Given the description of an element on the screen output the (x, y) to click on. 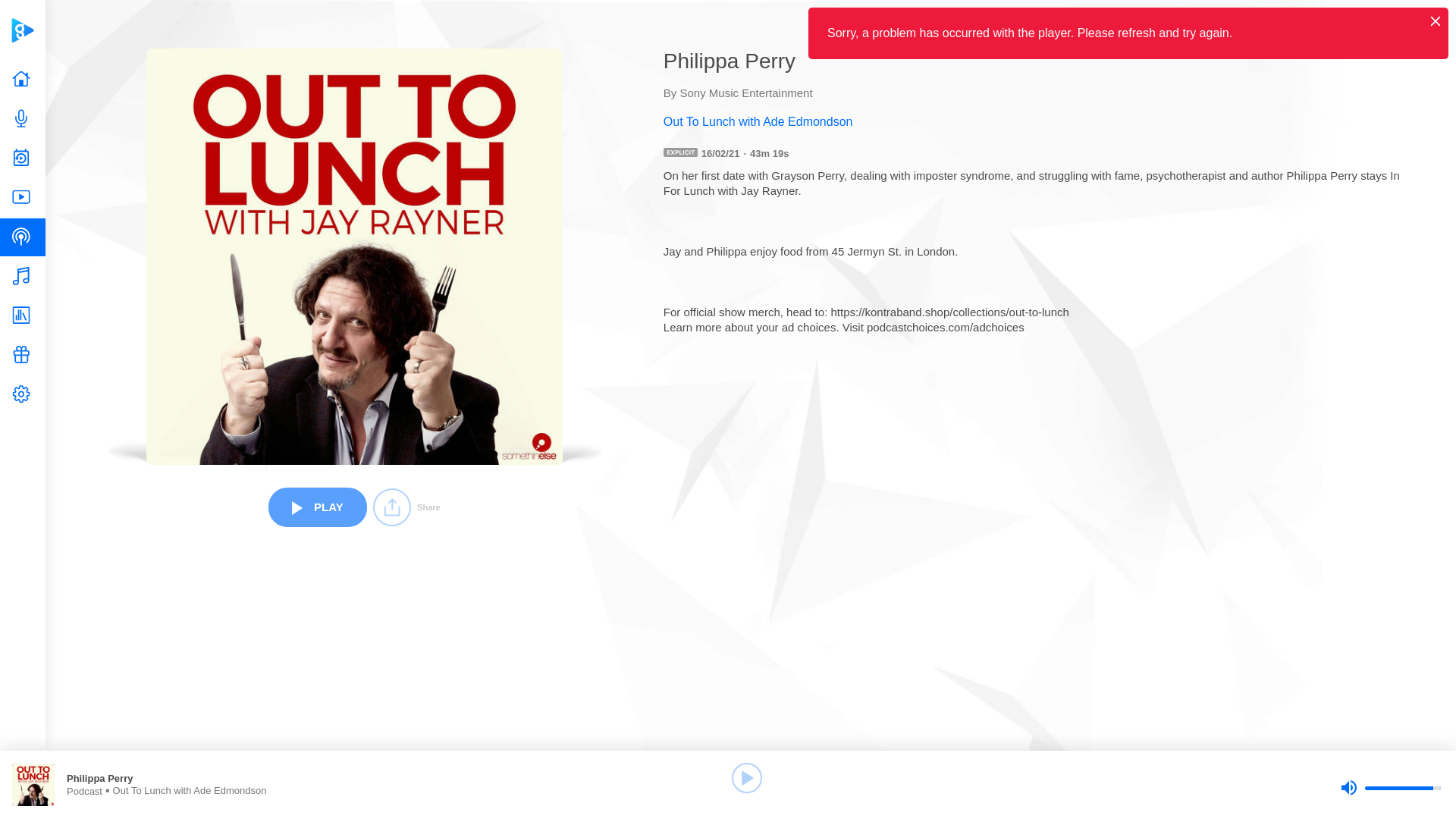
Out To Lunch with Ade Edmondson (1035, 121)
Share (406, 507)
Close Menu (1435, 20)
Global Player (22, 30)
Share (406, 507)
PLAY (316, 507)
Global Player (22, 30)
